Given the description of an element on the screen output the (x, y) to click on. 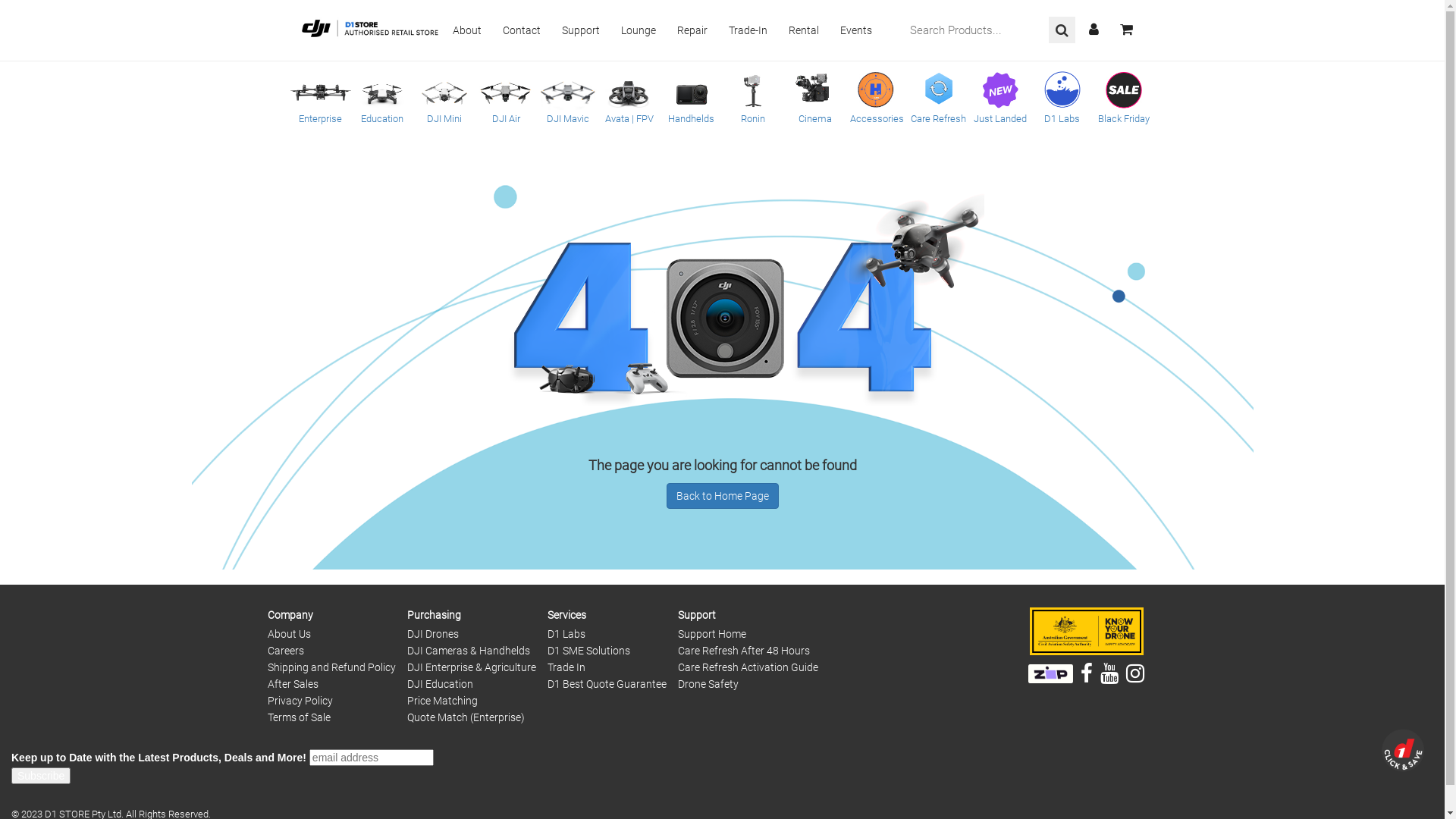
D1 Best Quote Guarantee Element type: text (606, 683)
Accessories Element type: text (876, 96)
Just Landed Element type: text (999, 96)
Care Refresh Element type: text (938, 96)
D1 Labs Element type: text (566, 633)
Enterprise Element type: text (319, 96)
Cinema Element type: text (814, 96)
Price Matching Element type: text (441, 700)
Shipping and Refund Policy Element type: text (330, 667)
About Element type: text (465, 30)
DJI Mini Element type: text (444, 96)
Repair Element type: text (691, 30)
DJI Drones Element type: text (432, 633)
D1 SME Solutions Element type: text (588, 650)
Rental Element type: text (803, 30)
DJI Cameras & Handhelds Element type: text (467, 650)
DJI Air Element type: text (505, 96)
D1 Labs Element type: text (1062, 96)
Black Friday Element type: text (1123, 96)
Back to Home Page Element type: text (721, 495)
Support Element type: text (580, 30)
Education Element type: text (381, 96)
Handhelds Element type: text (691, 96)
After Sales Element type: text (291, 683)
Privacy Policy Element type: text (299, 700)
About Us Element type: text (288, 633)
Contact Element type: text (520, 30)
DJI Education Element type: text (439, 683)
Quote Match (Enterprise) Element type: text (465, 717)
Care Refresh Activation Guide Element type: text (747, 667)
Subscribe Element type: text (40, 775)
Careers Element type: text (284, 650)
Drone Safety Element type: text (707, 683)
DJI Mavic Element type: text (567, 96)
Lounge Element type: text (637, 30)
Avata | FPV Element type: text (629, 96)
DJI Enterprise & Agriculture Element type: text (470, 667)
Support Home Element type: text (711, 633)
Events Element type: text (856, 30)
Ronin Element type: text (752, 96)
Trade-In Element type: text (747, 30)
Terms of Sale Element type: text (297, 717)
Trade In Element type: text (566, 667)
Care Refresh After 48 Hours Element type: text (743, 650)
